Given the description of an element on the screen output the (x, y) to click on. 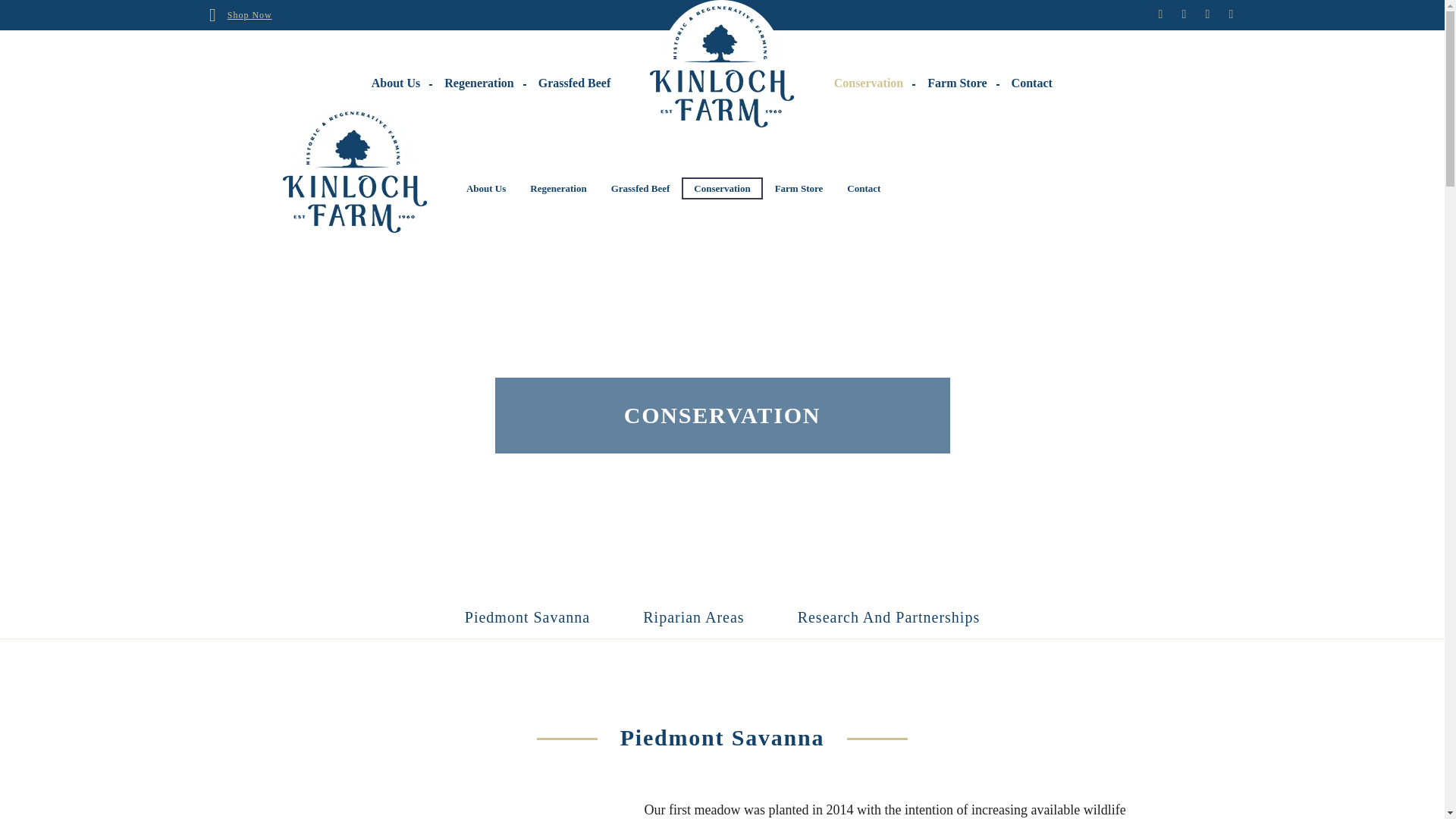
Piedmont Savanna (526, 623)
Grassfed Beef (640, 188)
Twitter (1184, 14)
About Us (486, 188)
About Us (395, 82)
Conservation (868, 82)
Regeneration (558, 188)
Grassfed Beef (574, 82)
Conservation (721, 188)
Facebook (1160, 14)
Contact (1031, 82)
Shop Now (249, 14)
Farm Store (798, 188)
Research And Partnerships (888, 623)
Riparian Areas (693, 623)
